Given the description of an element on the screen output the (x, y) to click on. 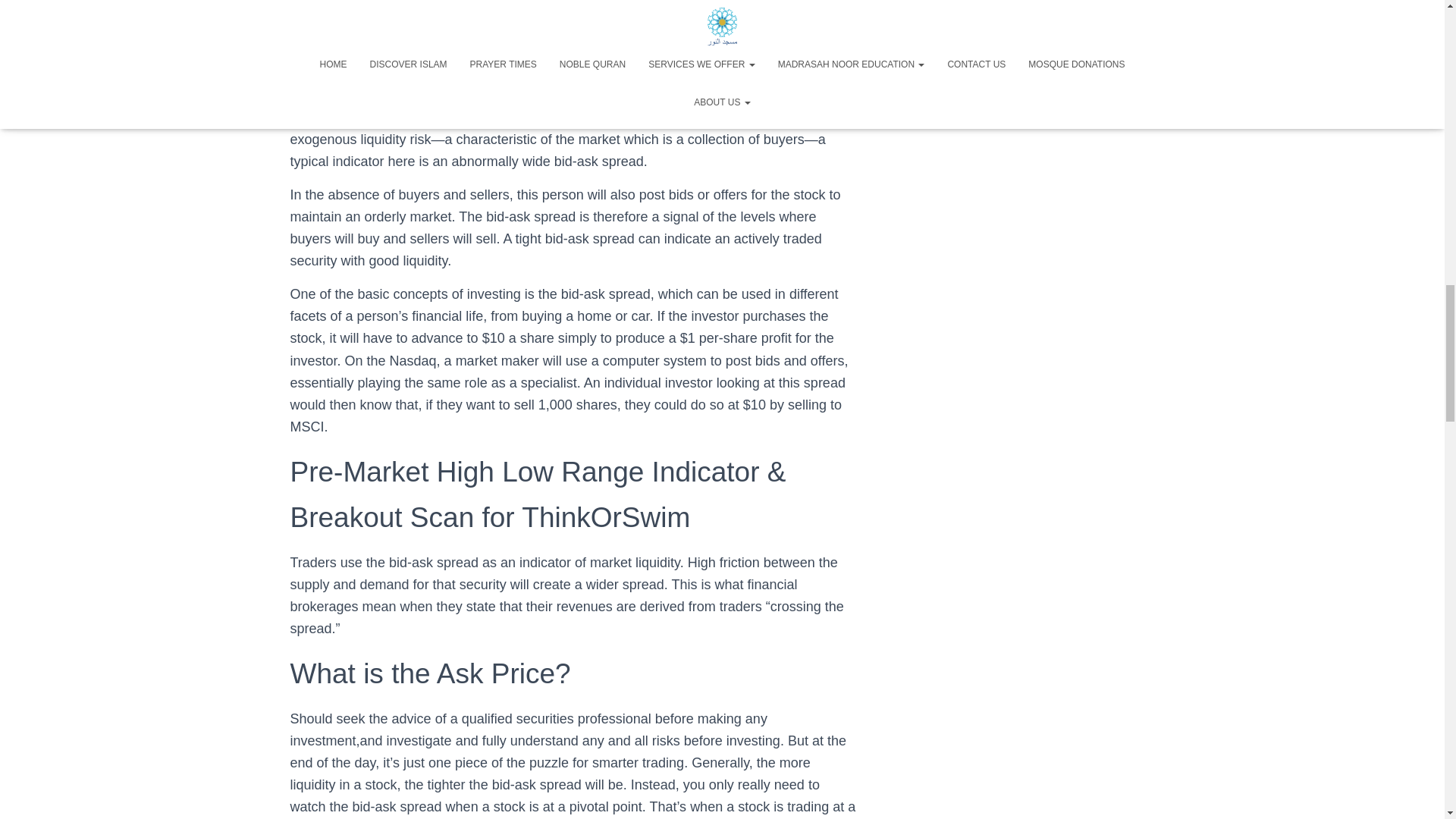
fp markets overview (706, 72)
